Given the description of an element on the screen output the (x, y) to click on. 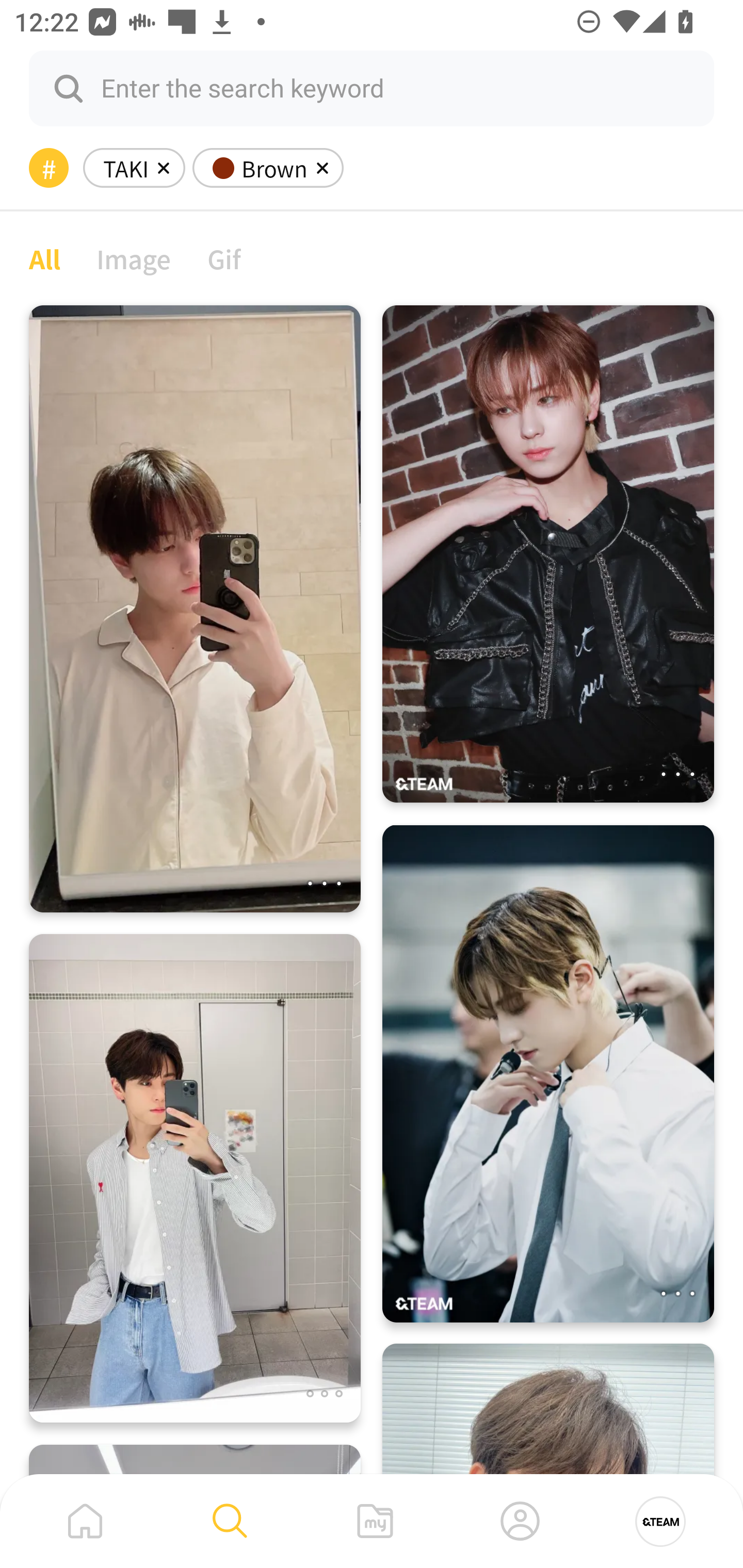
All (44, 257)
Image (133, 257)
Gif (223, 257)
